Given the description of an element on the screen output the (x, y) to click on. 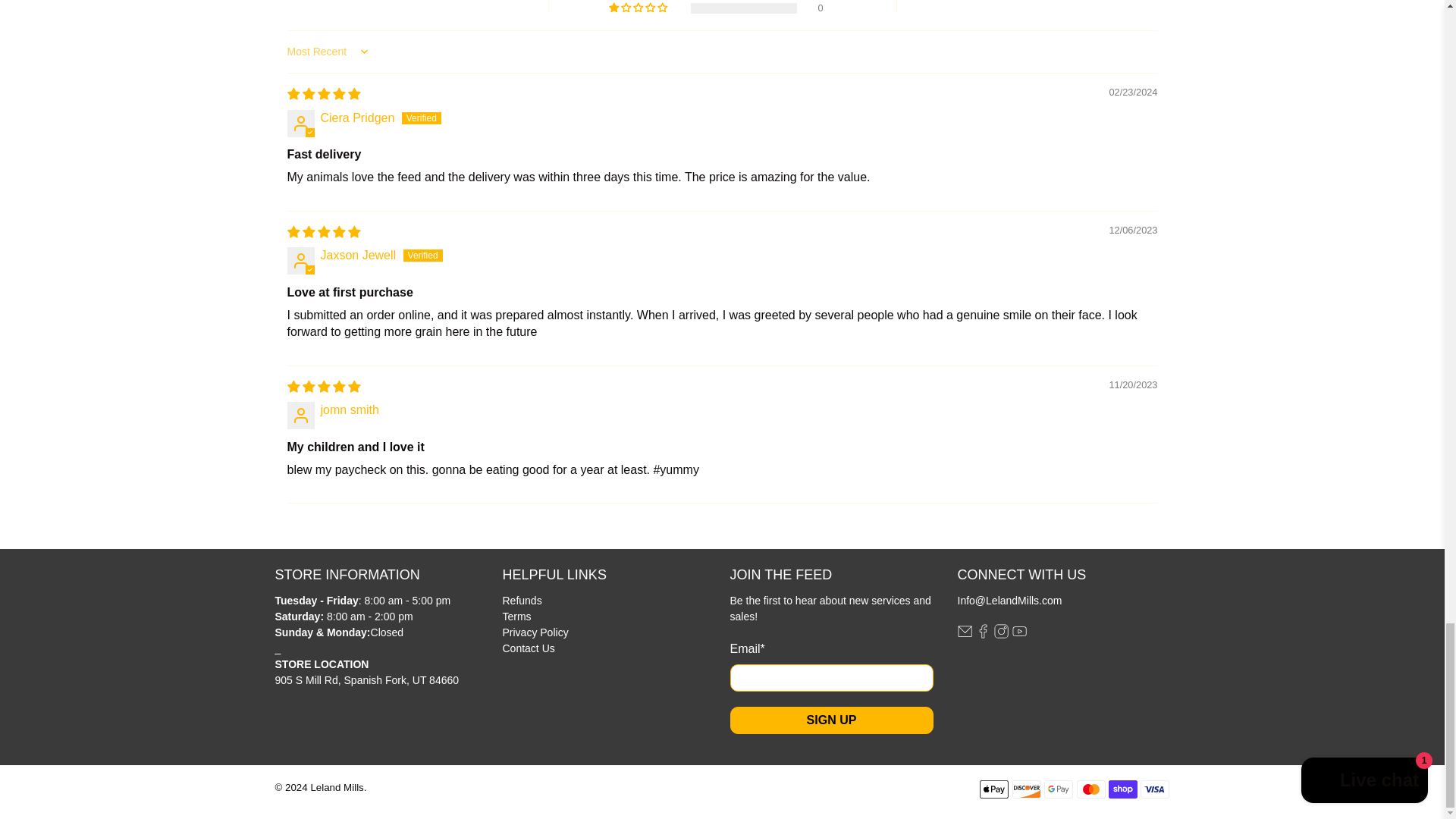
Shop Pay (1122, 789)
Leland Mills on Facebook (982, 635)
Email Leland Mills (963, 635)
Discover (1026, 789)
Leland Mills on YouTube (1018, 635)
Mastercard (1091, 789)
Leland Mills Directions (366, 680)
Apple Pay (994, 789)
Leland Mills on Instagram (1001, 635)
Visa (1154, 789)
Google Pay (1058, 789)
